Given the description of an element on the screen output the (x, y) to click on. 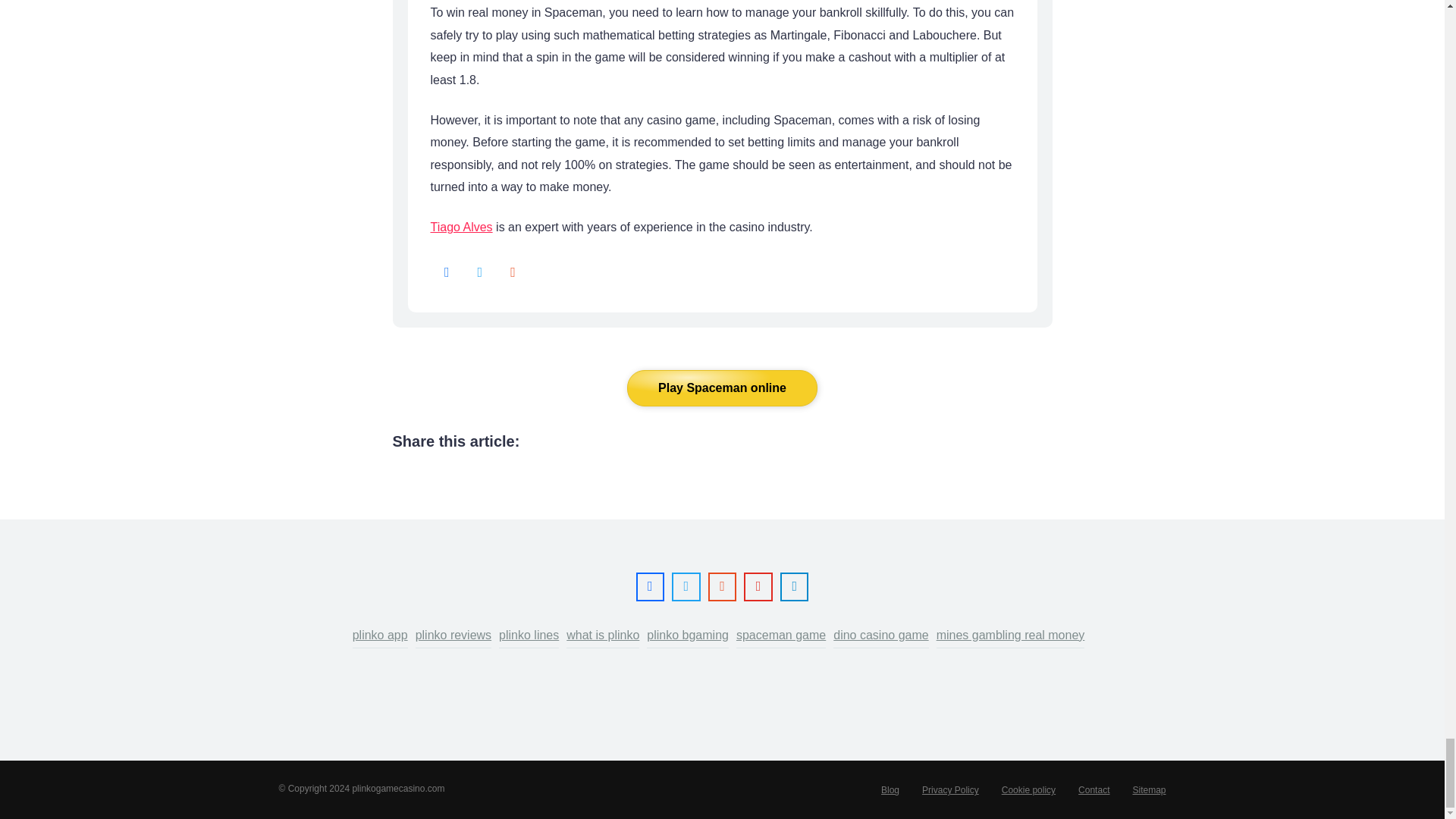
Reddit (722, 586)
Reddit (512, 272)
Twitter (479, 272)
Youtube (757, 586)
Telegram (794, 586)
Facebook (447, 272)
Twitter (686, 586)
Facebook (649, 586)
